Given the description of an element on the screen output the (x, y) to click on. 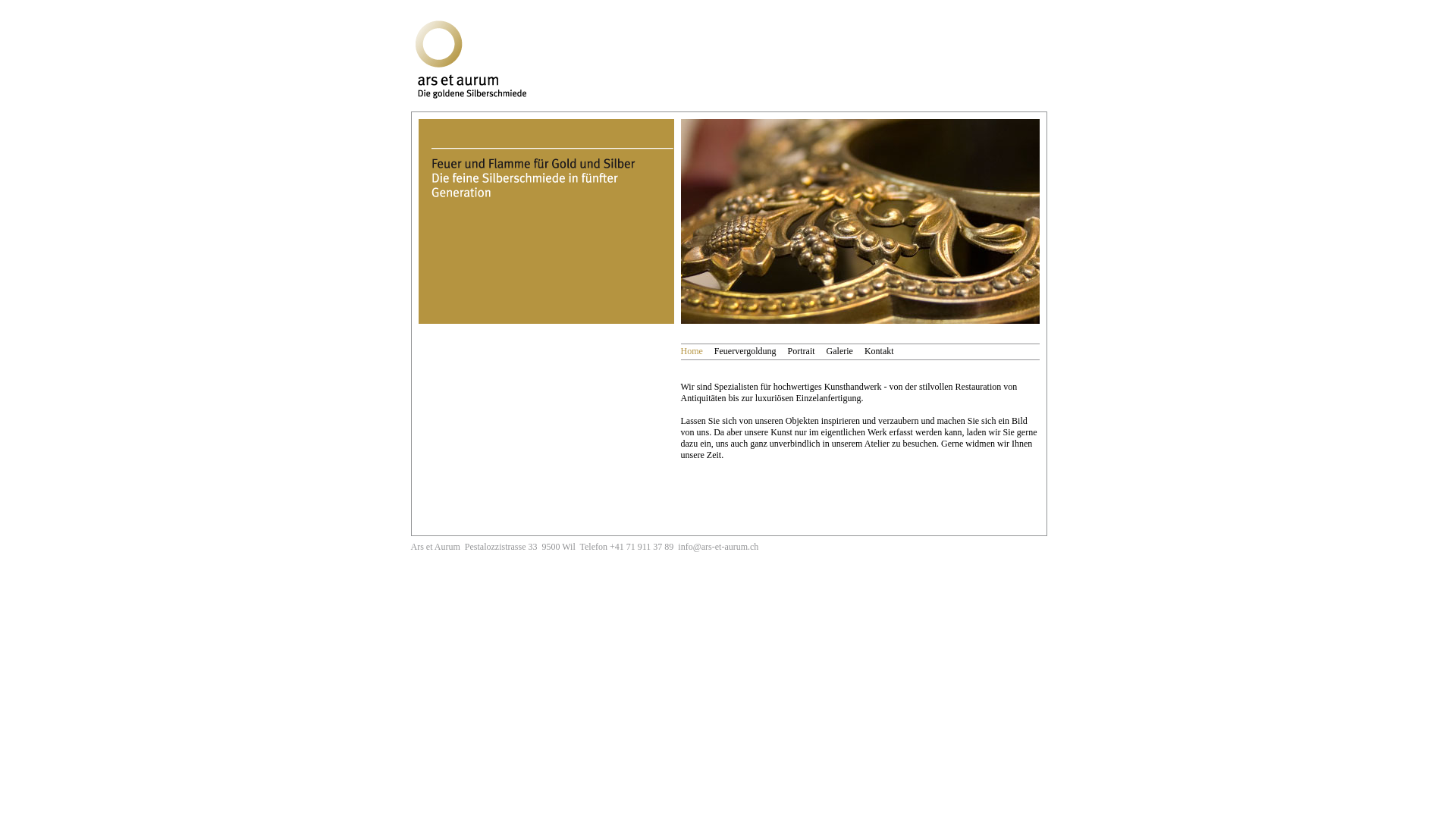
Galerie Element type: text (839, 351)
Feuervergoldung Element type: text (745, 351)
Kontakt Element type: text (879, 351)
Portrait Element type: text (801, 351)
info@ars-et-aurum.ch Element type: text (717, 546)
Home Element type: text (691, 351)
